Given the description of an element on the screen output the (x, y) to click on. 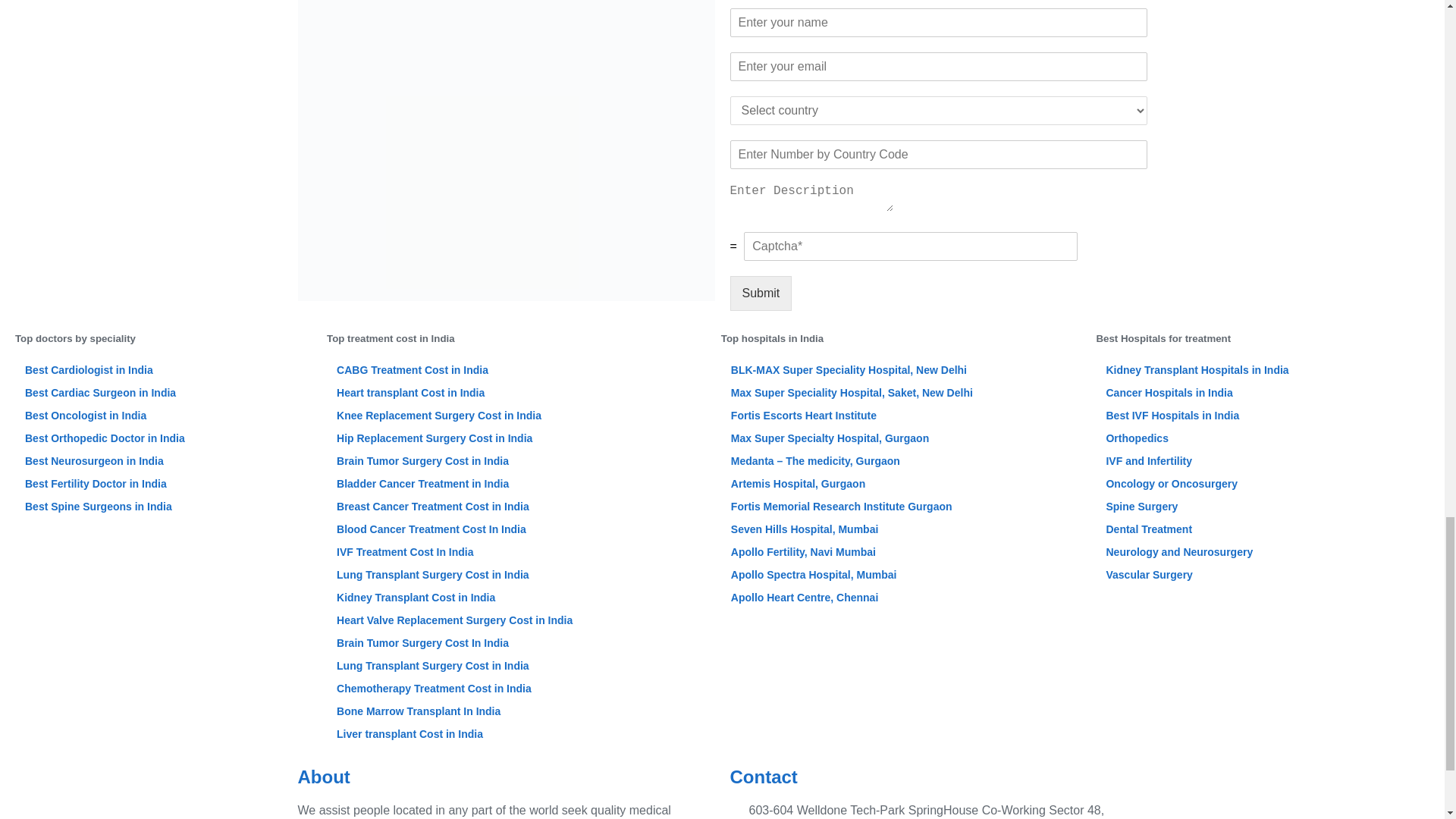
Best Hospitals for treatment (1262, 338)
Top hospitals in India (900, 338)
Top treatment cost in India (516, 338)
About (505, 777)
Top doctors by speciality (162, 338)
Contact (938, 777)
